Given the description of an element on the screen output the (x, y) to click on. 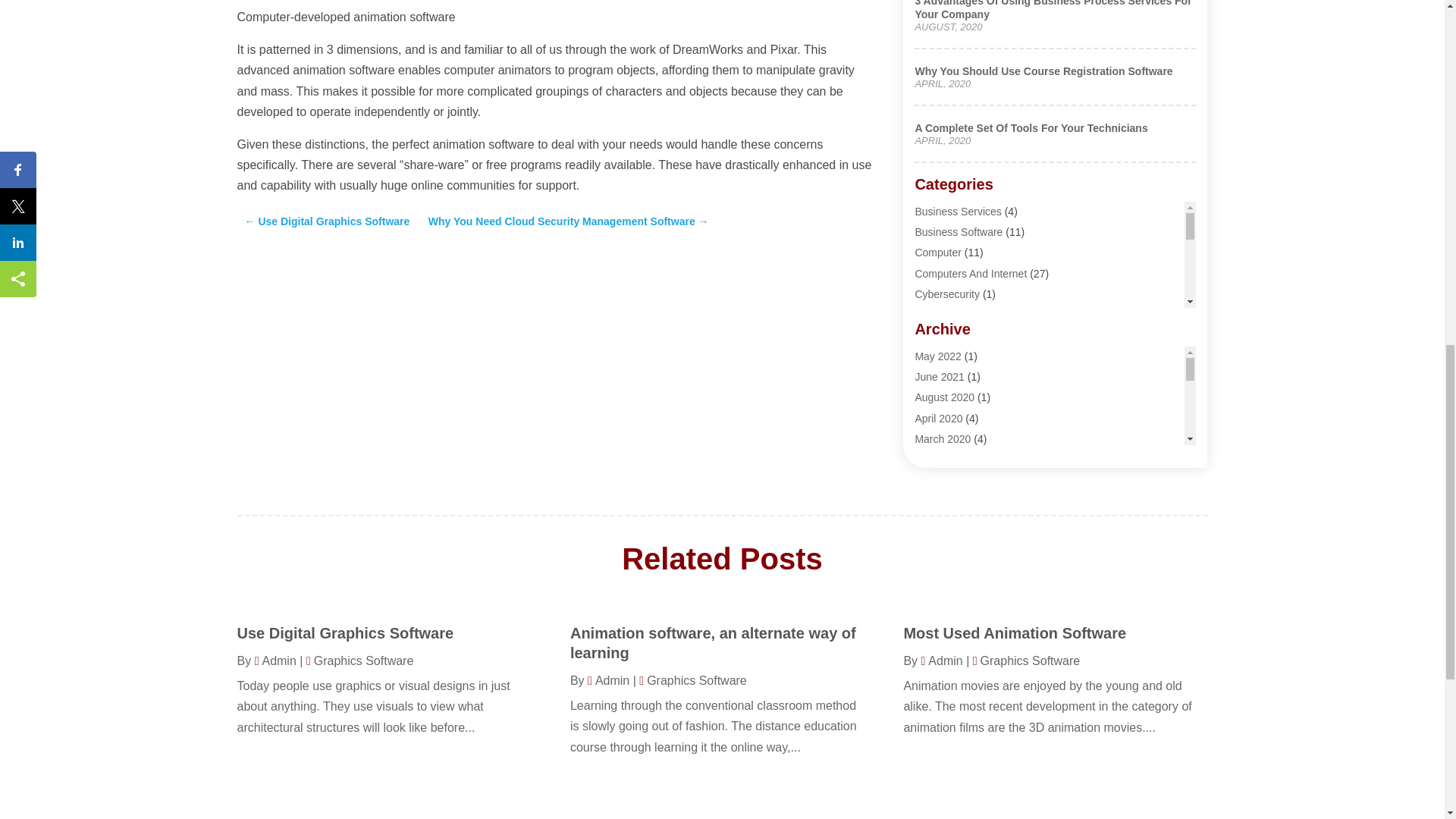
Business Services (957, 211)
A Complete Set Of Tools For Your Technicians (1030, 128)
Computer (937, 252)
Mobile Software (952, 438)
Equipment (939, 355)
Graphics Software (957, 376)
Computers And Internet (970, 273)
Data Recovery Service (968, 314)
Posts by admin (275, 660)
